Given the description of an element on the screen output the (x, y) to click on. 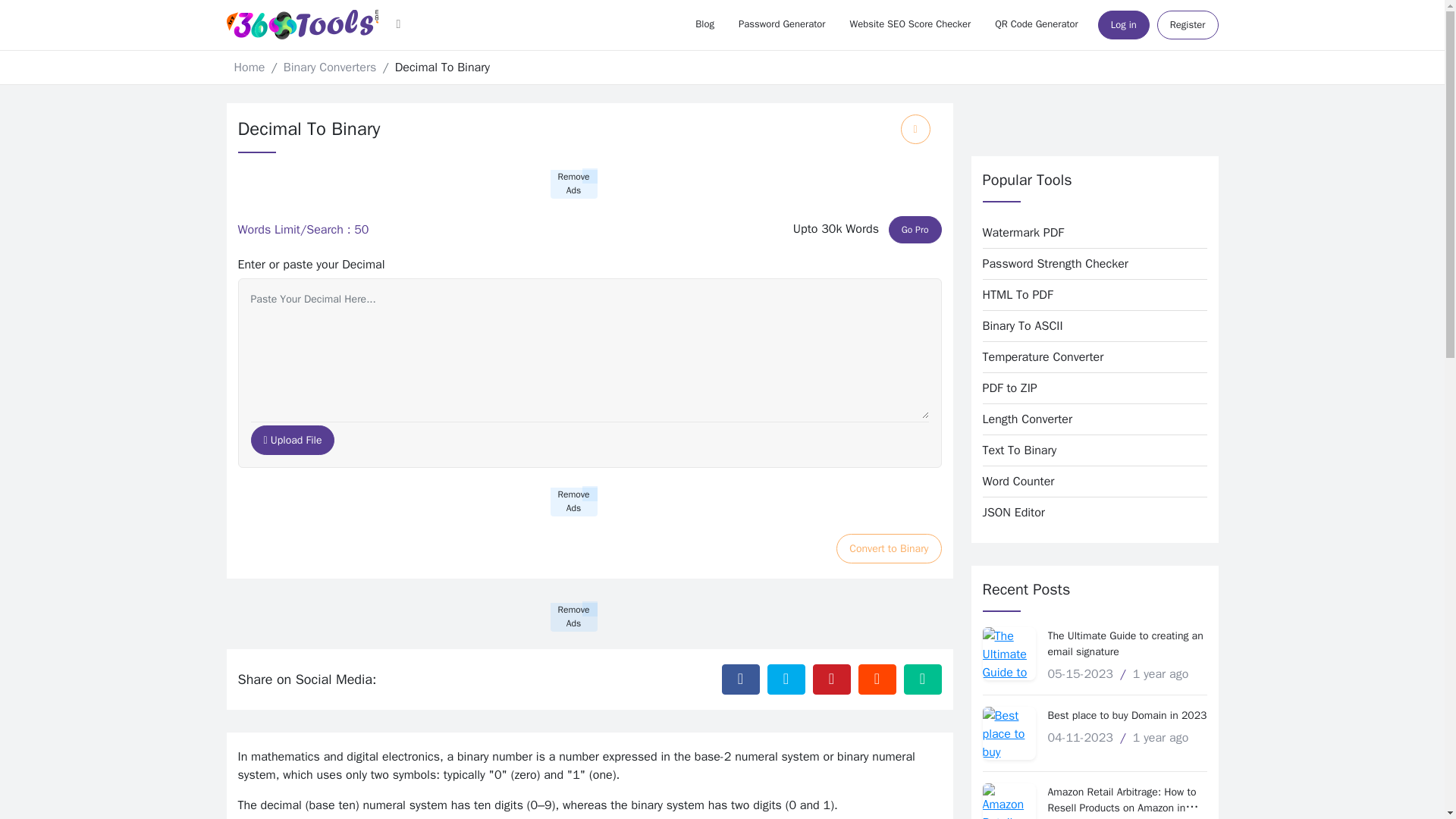
Password Generator (782, 23)
Advertisement (1094, 129)
Website SEO Score Checker (909, 23)
Text To Binary (1088, 450)
Remove Ads (573, 501)
Length Converter (1088, 419)
HTML To PDF (1088, 294)
Convert to Binary (887, 548)
QR Code Generator (1036, 23)
Go Pro (915, 229)
Temperature Converter (1088, 357)
Remove Ads (573, 184)
Watermark PDF (1088, 232)
Binary To ASCII (1088, 325)
Blog (704, 23)
